Given the description of an element on the screen output the (x, y) to click on. 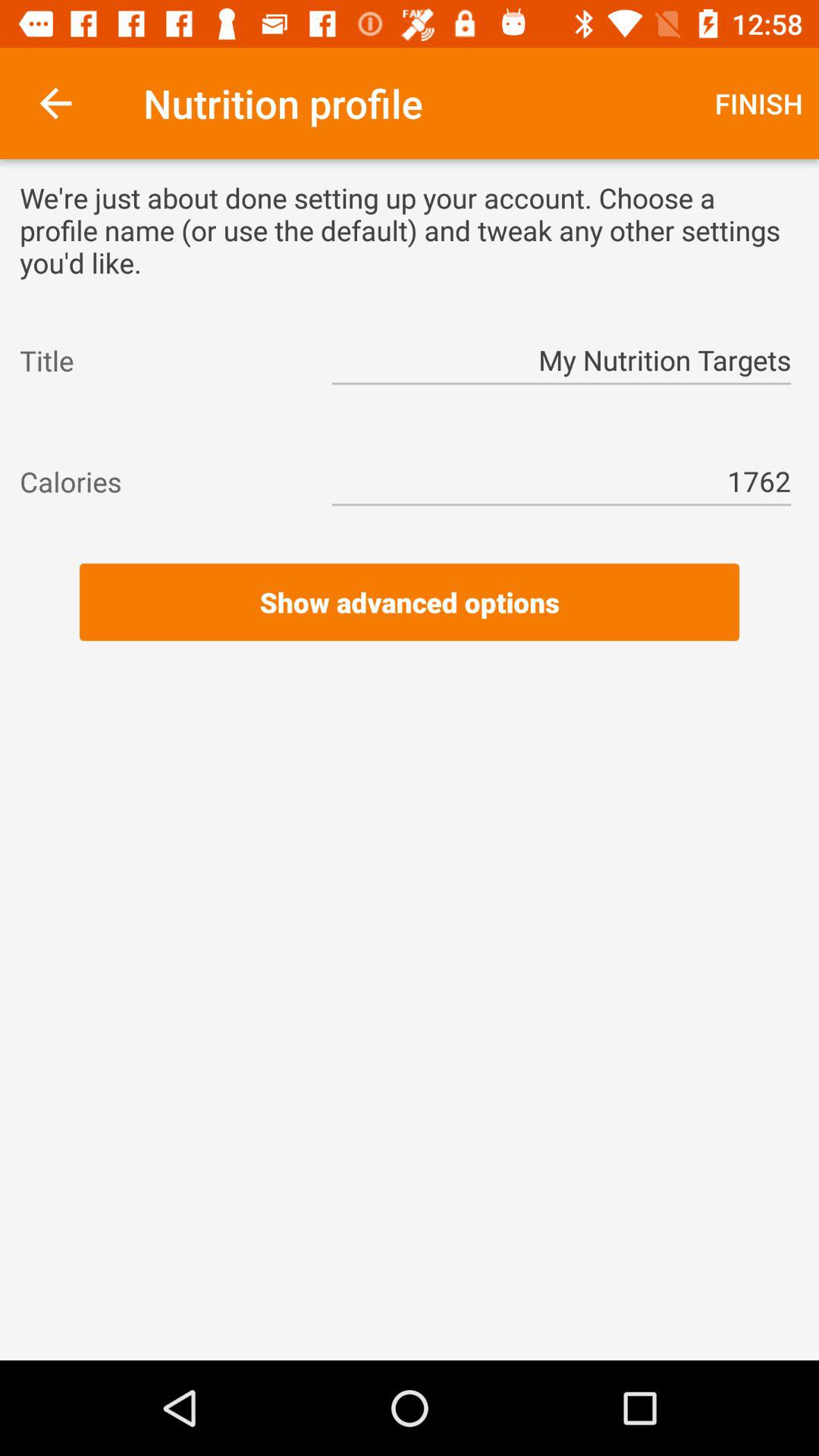
tap item to the right of the title icon (561, 360)
